Given the description of an element on the screen output the (x, y) to click on. 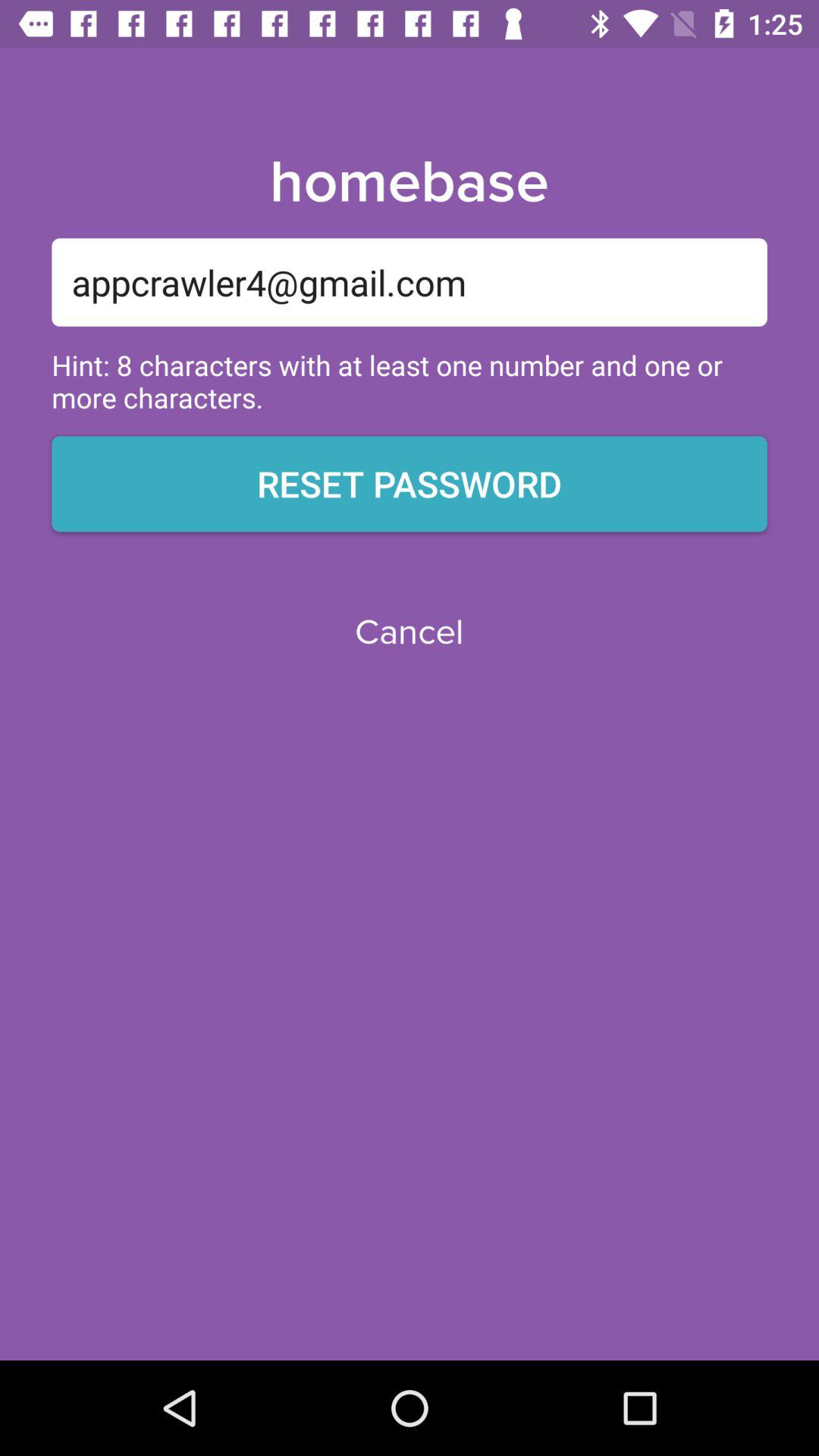
tap item below hint 8 characters (409, 483)
